Given the description of an element on the screen output the (x, y) to click on. 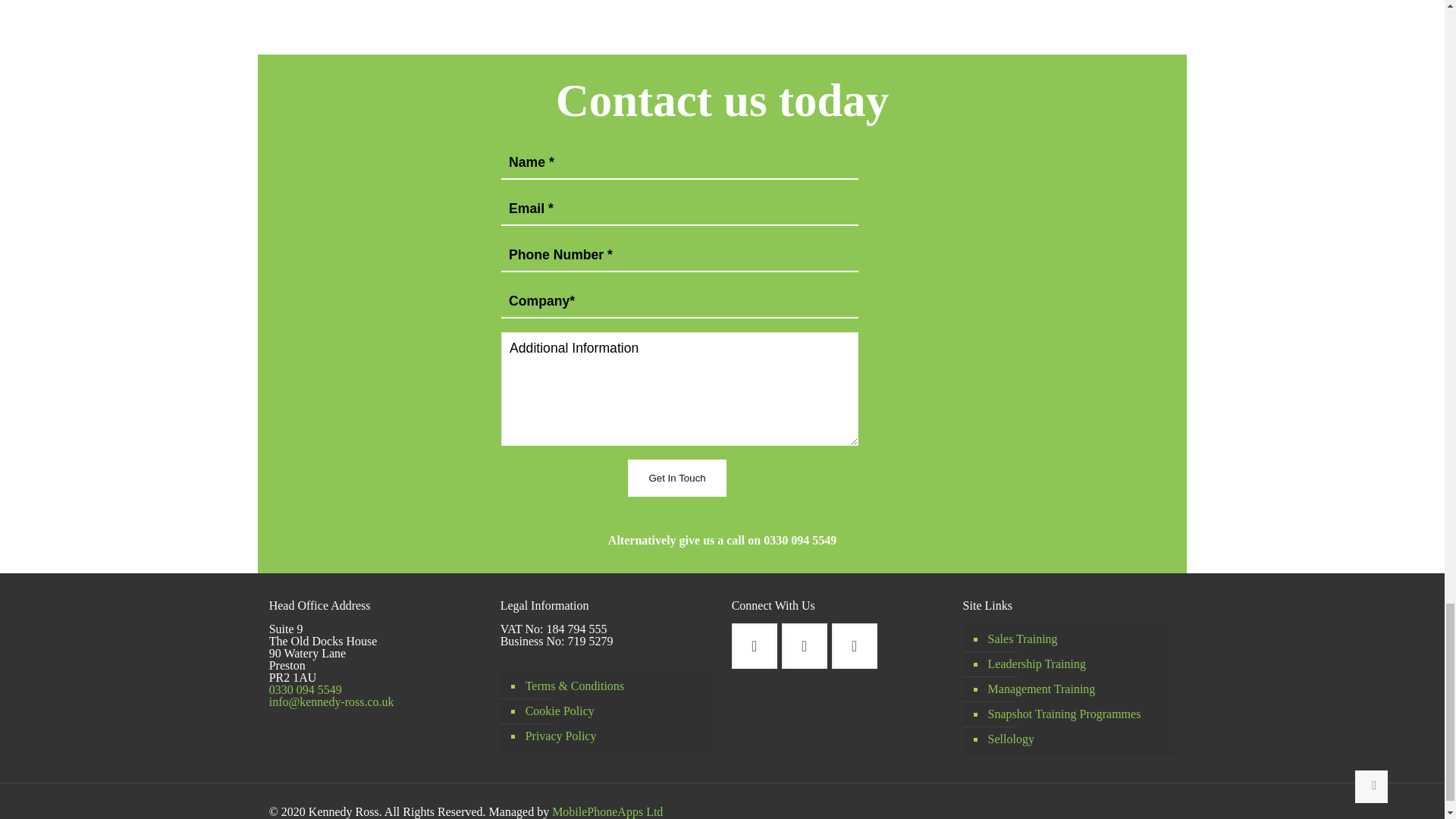
Get In Touch (676, 477)
